Given the description of an element on the screen output the (x, y) to click on. 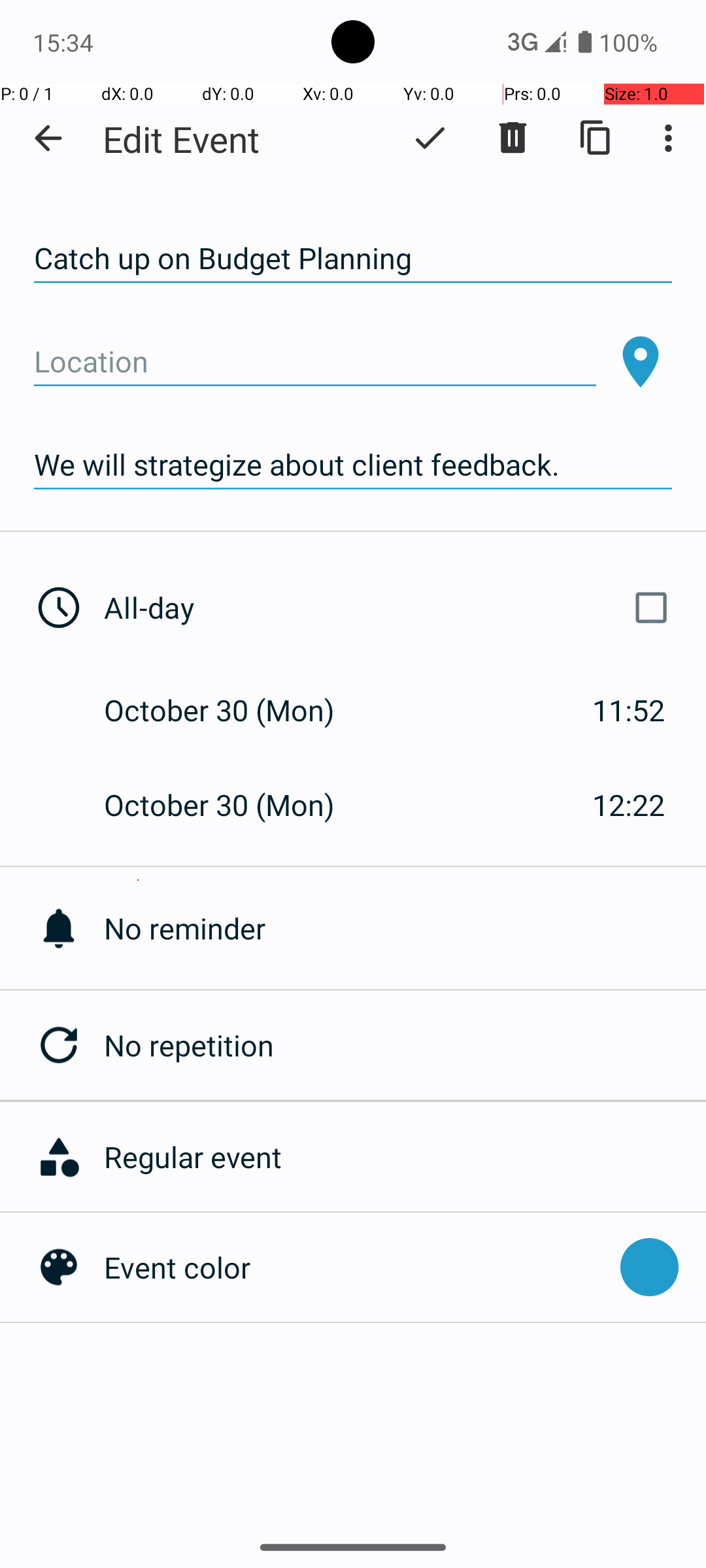
Catch up on Budget Planning Element type: android.widget.EditText (352, 258)
We will strategize about client feedback. Element type: android.widget.EditText (352, 465)
October 30 (Mon) Element type: android.widget.TextView (232, 709)
11:52 Element type: android.widget.TextView (628, 709)
12:22 Element type: android.widget.TextView (628, 804)
